Given the description of an element on the screen output the (x, y) to click on. 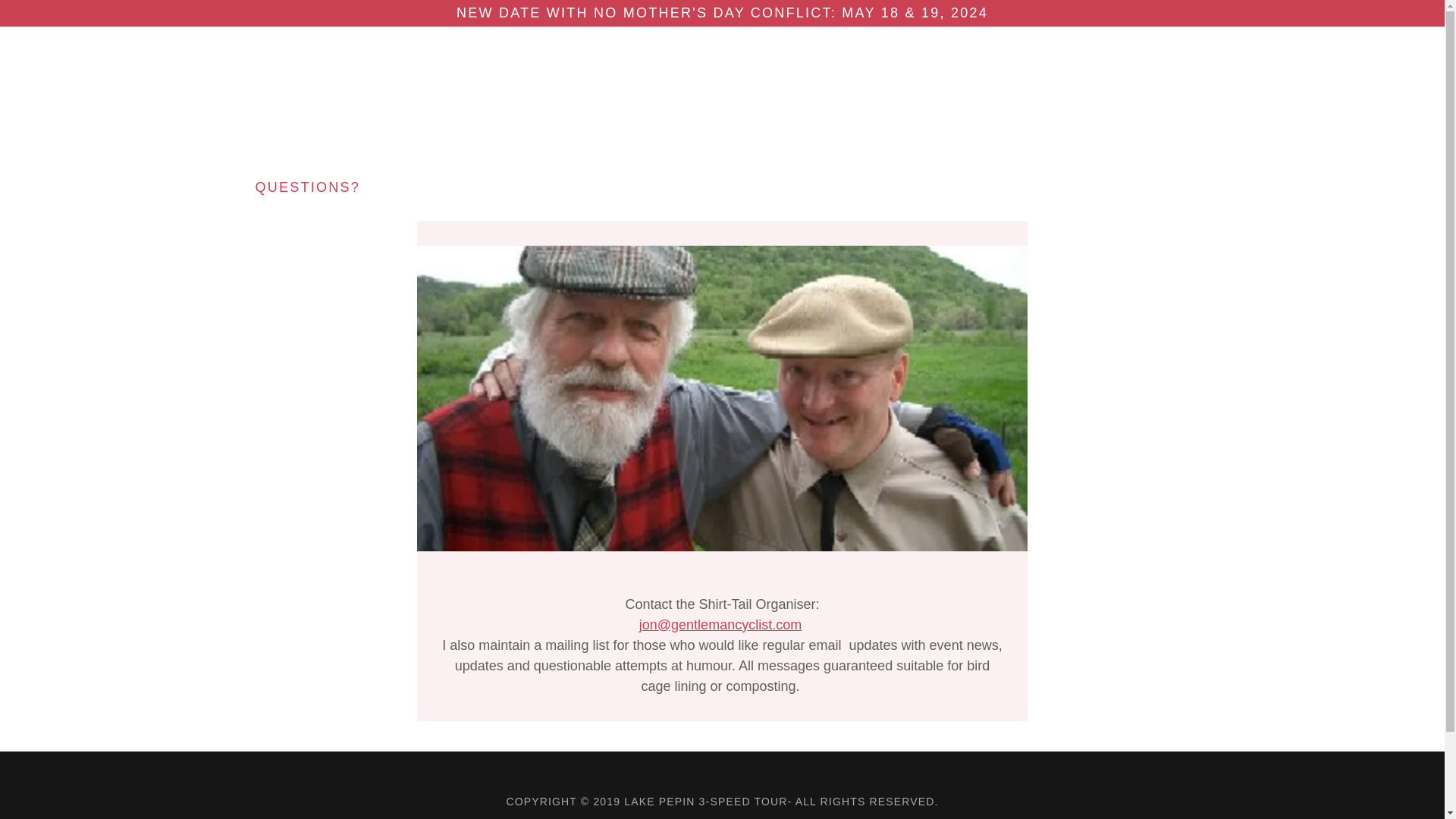
jon@gentlemancyclist.com Element type: text (720, 624)
